Given the description of an element on the screen output the (x, y) to click on. 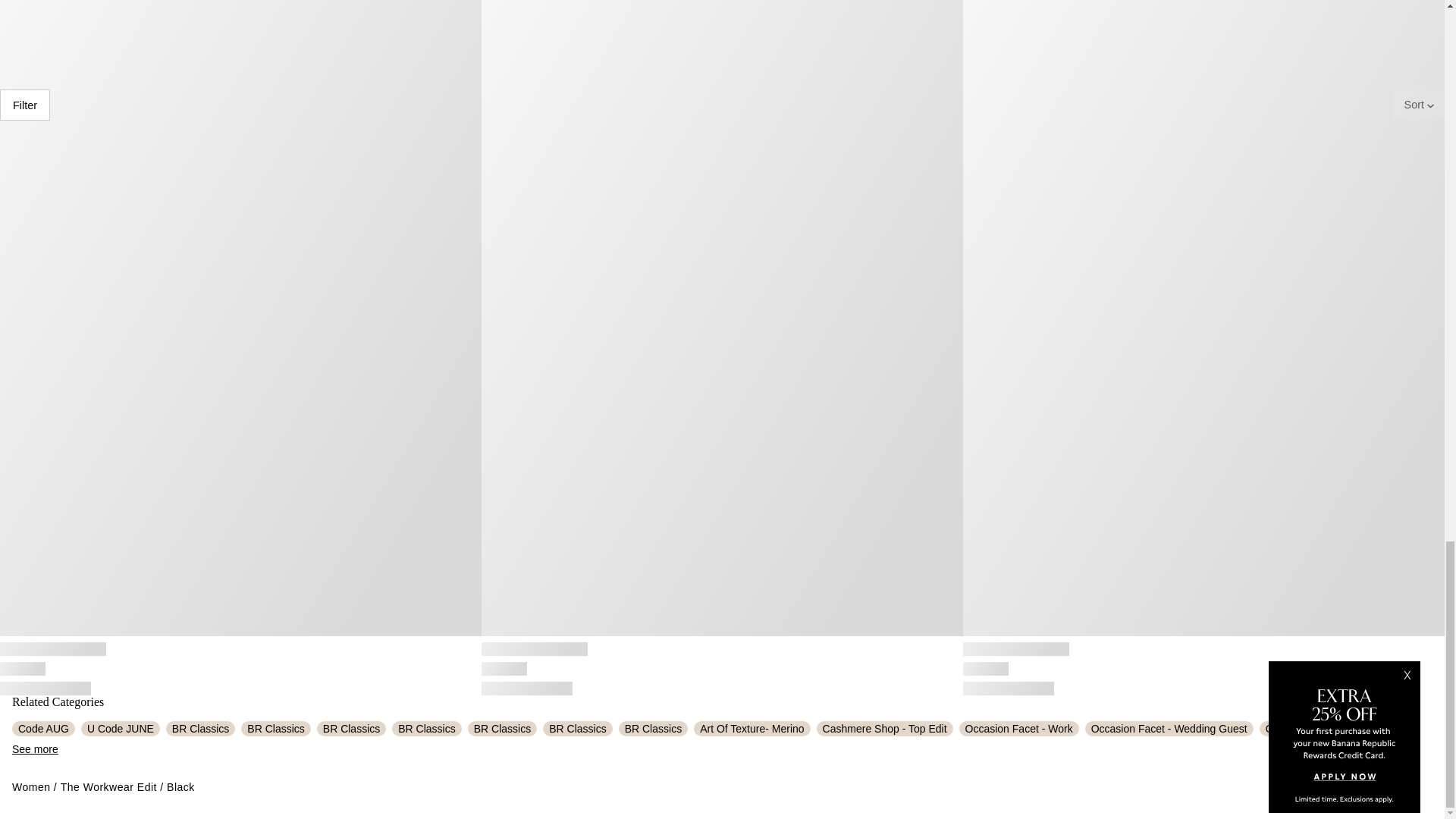
U Code JUNE (120, 728)
BR Classics (351, 728)
BR Classics (275, 728)
BR Classics (199, 728)
Code AUG (43, 728)
